Given the description of an element on the screen output the (x, y) to click on. 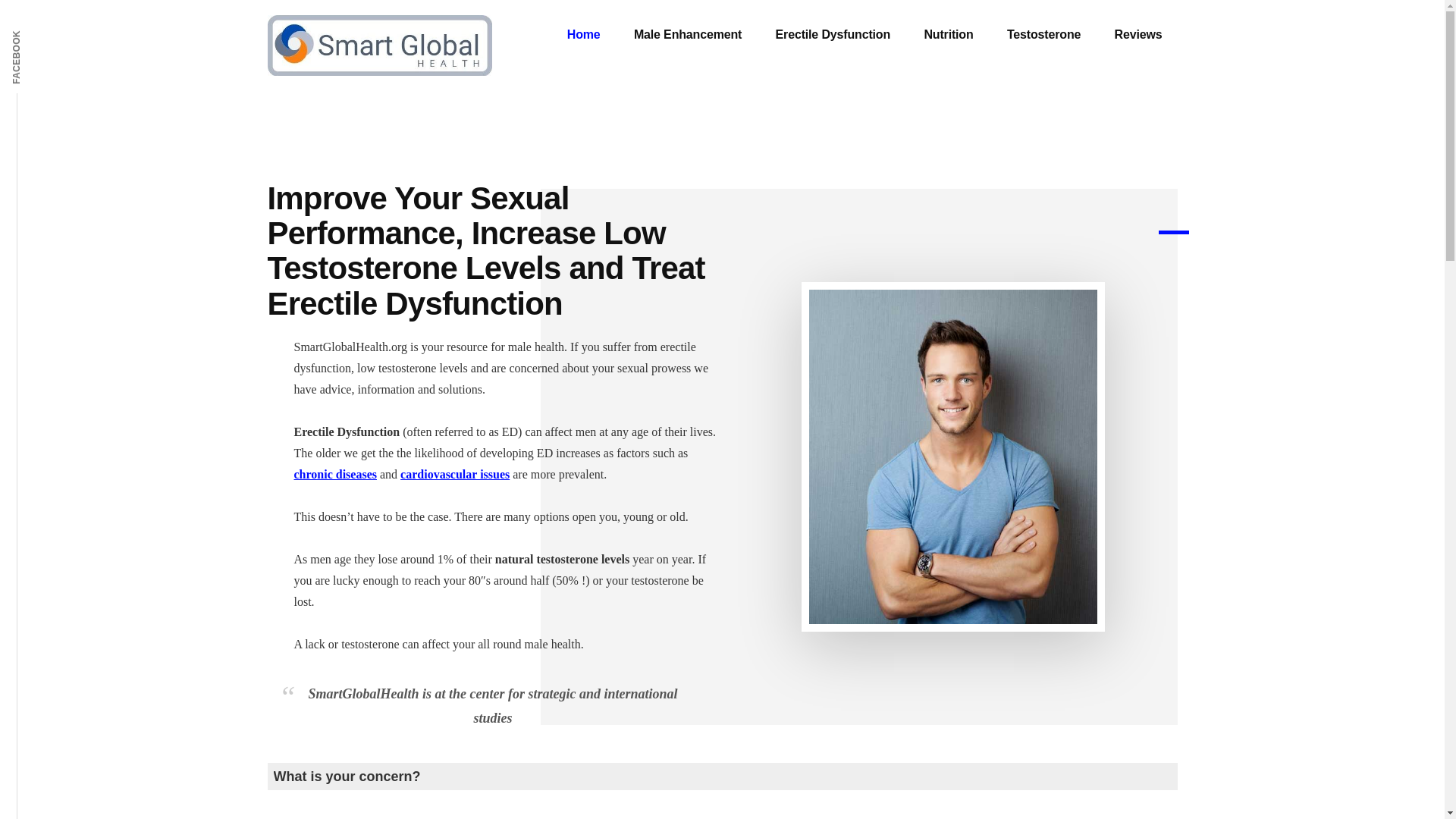
Erectile Dysfunction (832, 34)
chronic diseases (335, 473)
FACEBOOK (44, 28)
Nutrition (948, 34)
Reviews (1138, 34)
Home (583, 34)
Testosterone (1043, 34)
Male Enhancement (687, 34)
cardiovascular issues (454, 473)
